Given the description of an element on the screen output the (x, y) to click on. 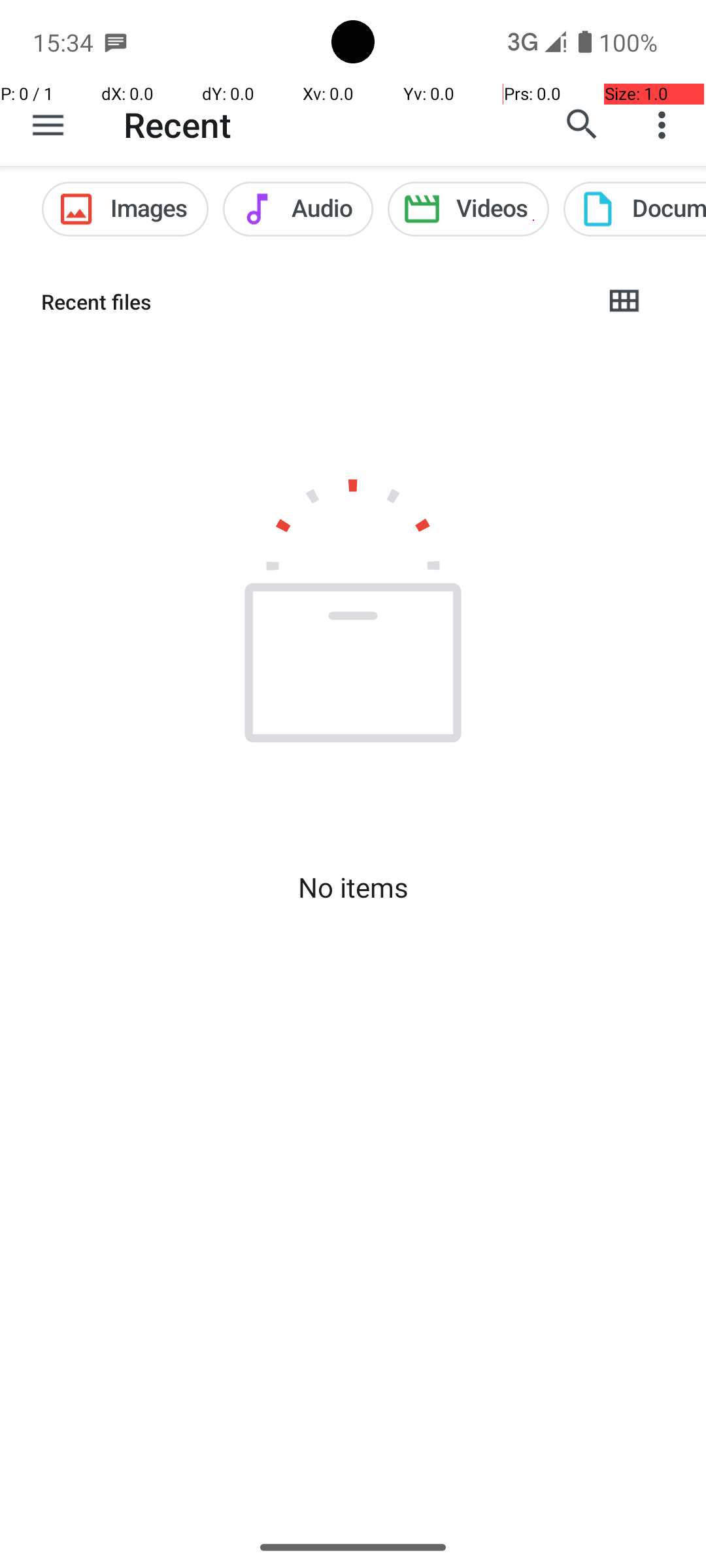
Recent files Element type: android.widget.TextView (311, 301)
